Given the description of an element on the screen output the (x, y) to click on. 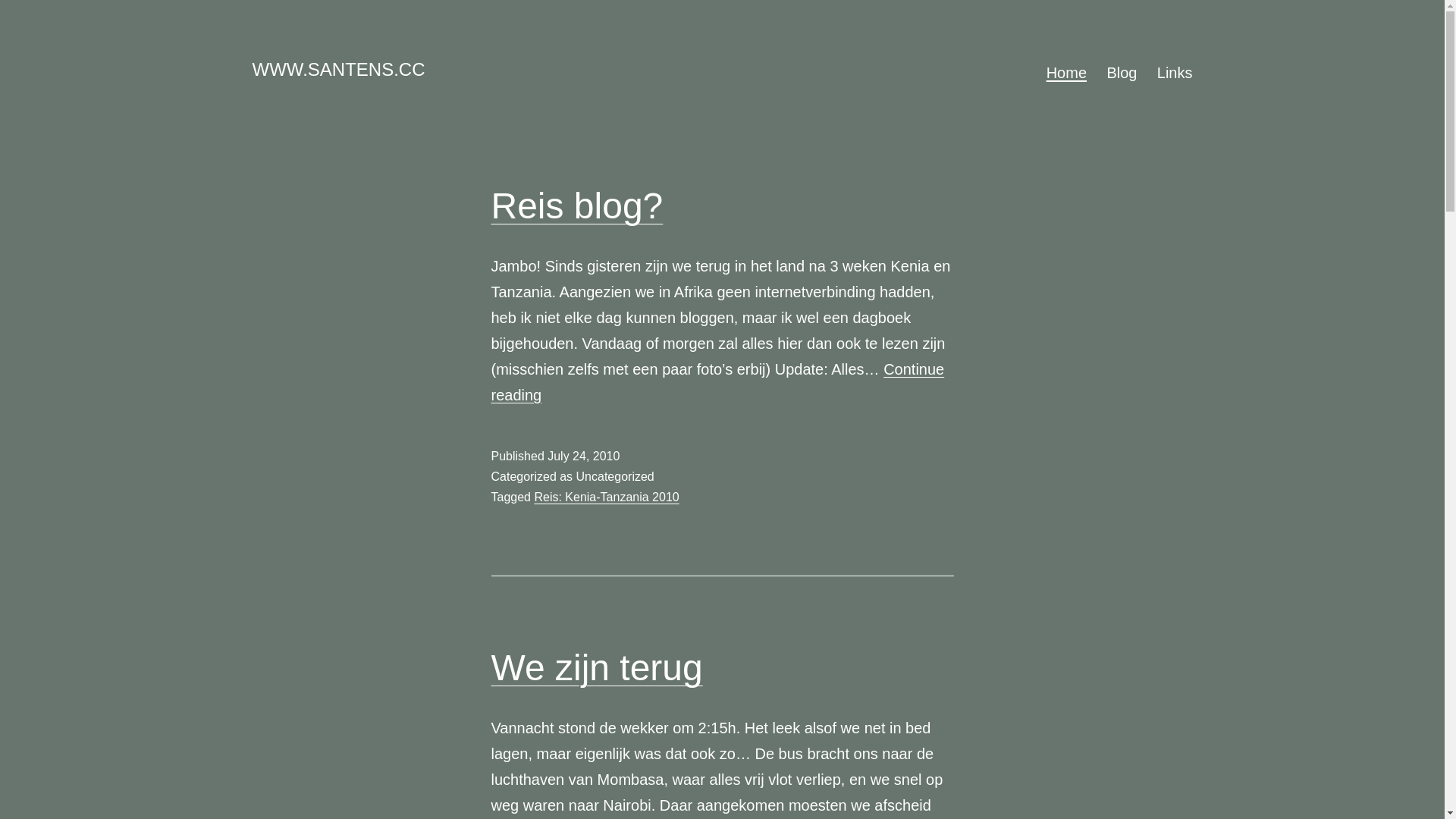
Home Element type: text (1065, 72)
Reis: Kenia-Tanzania 2010 Element type: text (605, 496)
Links Element type: text (1174, 72)
Continue reading
Reis blog? Element type: text (717, 381)
Blog Element type: text (1121, 72)
Reis blog? Element type: text (577, 205)
We zijn terug Element type: text (596, 667)
